Given the description of an element on the screen output the (x, y) to click on. 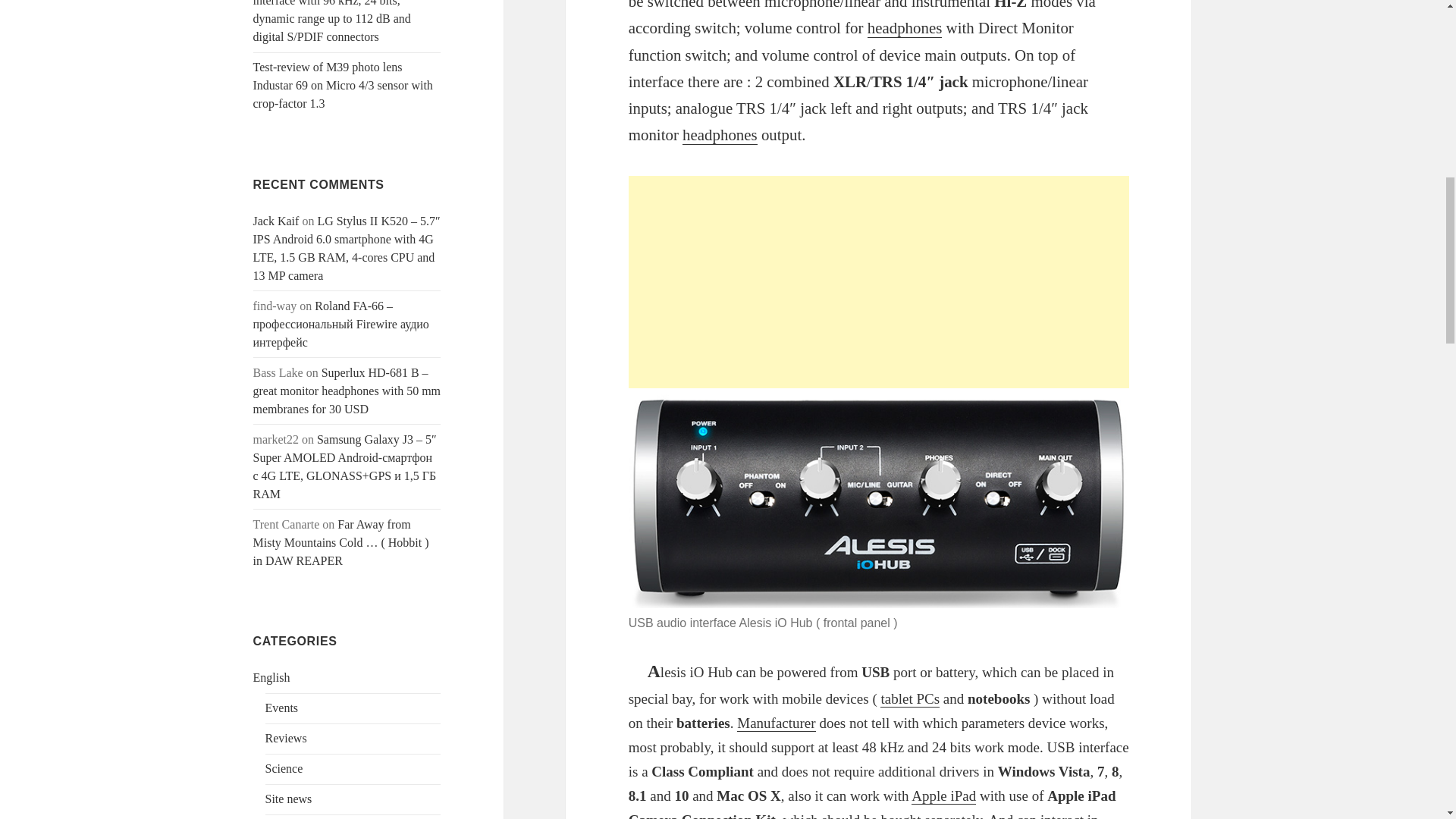
headphones (719, 135)
Advertisement (878, 282)
Apple iPad (943, 795)
headphones (904, 27)
Manufacturer (775, 723)
tablet PCs (909, 699)
